Given the description of an element on the screen output the (x, y) to click on. 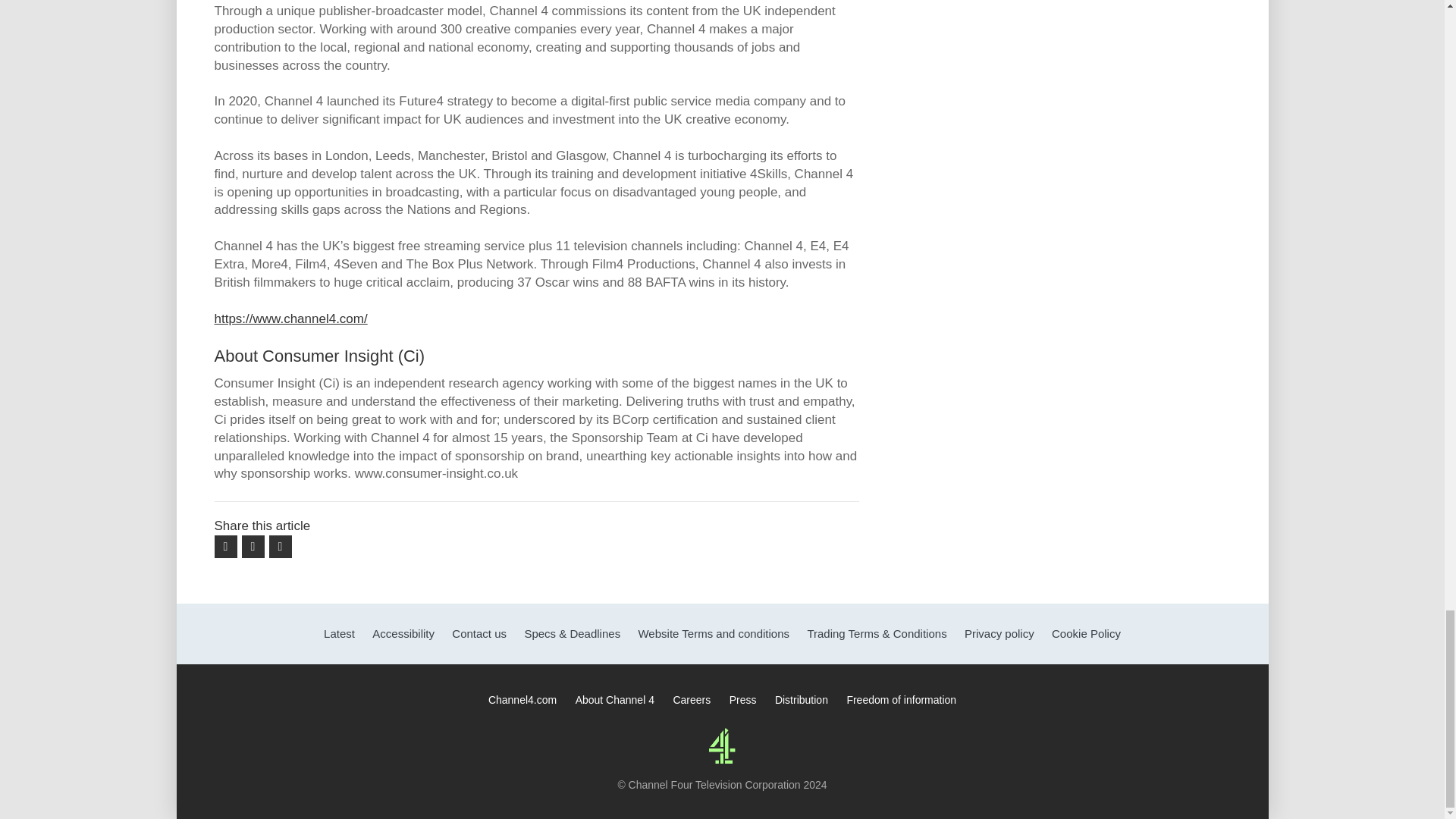
Privacy policy (999, 633)
Press (743, 699)
Freedom of information (900, 699)
LinkedIn (252, 546)
Accessibility (403, 633)
Website Terms and conditions (713, 633)
Cookie Policy (1085, 633)
Twitter (224, 546)
Latest (338, 633)
Distribution (801, 699)
Email (279, 546)
Careers (691, 699)
Contact us (478, 633)
About Channel 4 (614, 699)
Channel4.com (522, 699)
